Given the description of an element on the screen output the (x, y) to click on. 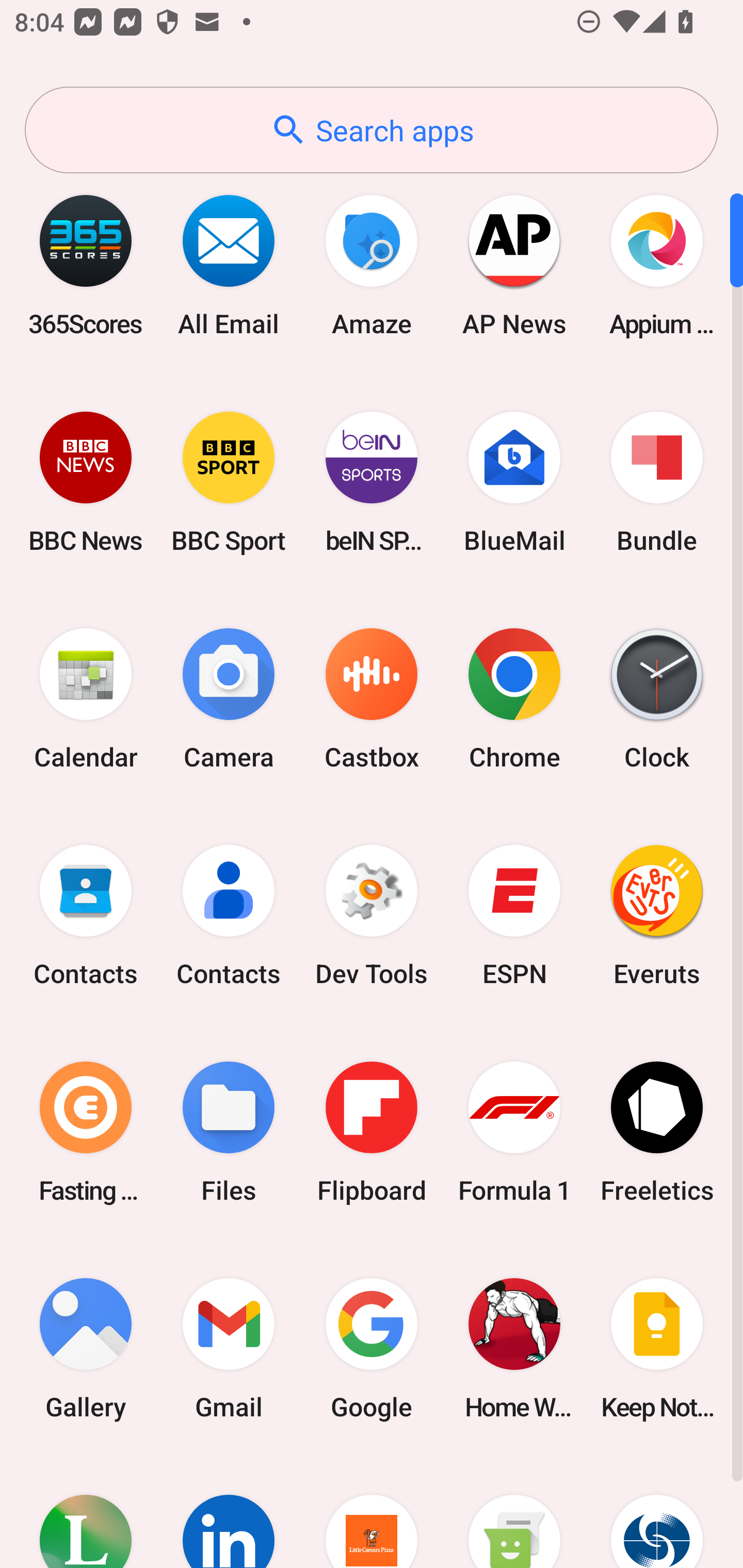
  Search apps (371, 130)
365Scores (85, 264)
All Email (228, 264)
Amaze (371, 264)
AP News (514, 264)
Appium Settings (656, 264)
BBC News (85, 482)
BBC Sport (228, 482)
beIN SPORTS (371, 482)
BlueMail (514, 482)
Bundle (656, 482)
Calendar (85, 699)
Camera (228, 699)
Castbox (371, 699)
Chrome (514, 699)
Clock (656, 699)
Contacts (85, 915)
Contacts (228, 915)
Dev Tools (371, 915)
ESPN (514, 915)
Everuts (656, 915)
Fasting Coach (85, 1131)
Files (228, 1131)
Flipboard (371, 1131)
Formula 1 (514, 1131)
Freeletics (656, 1131)
Gallery (85, 1348)
Gmail (228, 1348)
Google (371, 1348)
Home Workout (514, 1348)
Keep Notes (656, 1348)
